Given the description of an element on the screen output the (x, y) to click on. 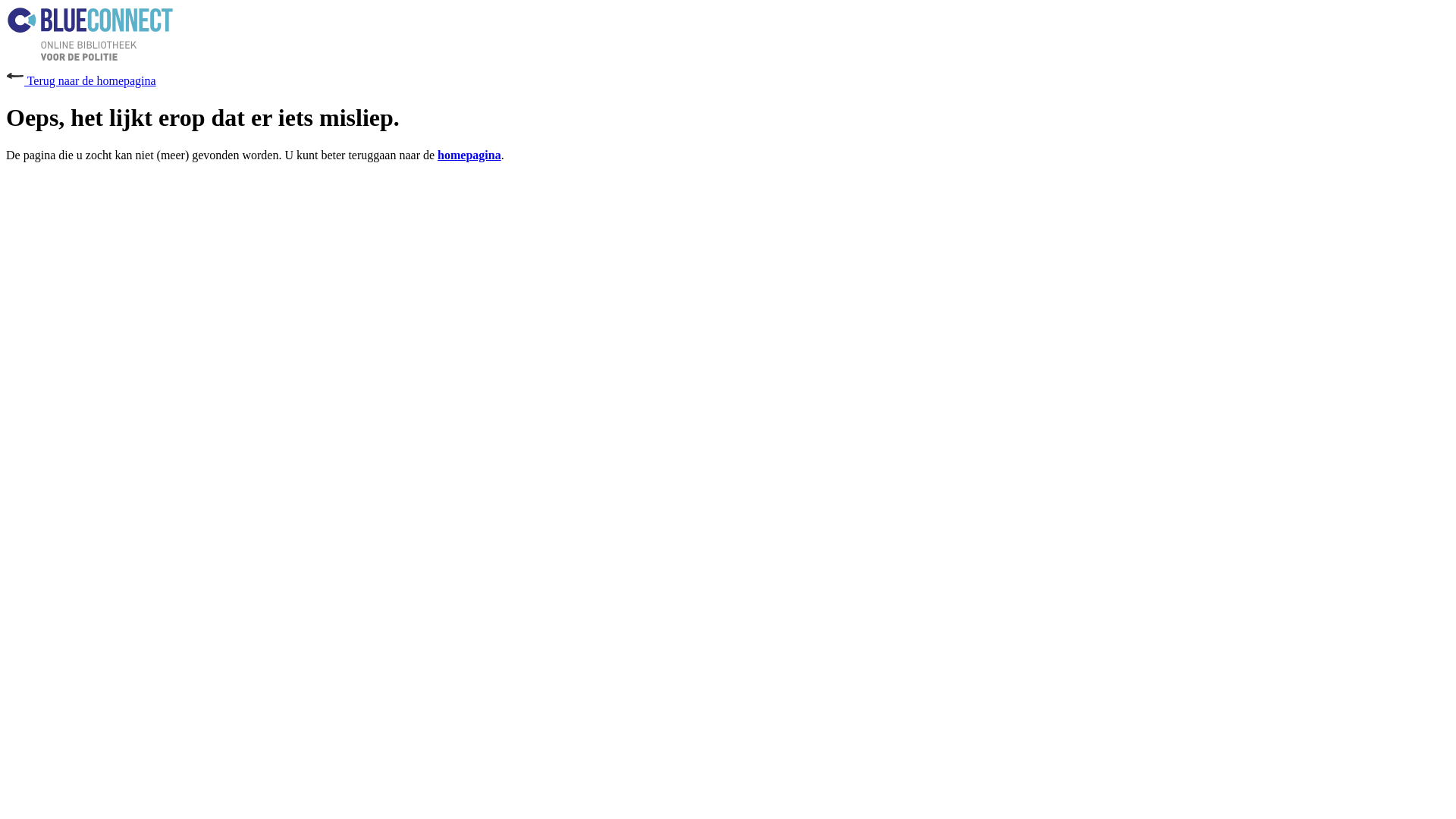
Terug naar de homepagina Element type: text (81, 80)
homepagina Element type: text (469, 154)
